Given the description of an element on the screen output the (x, y) to click on. 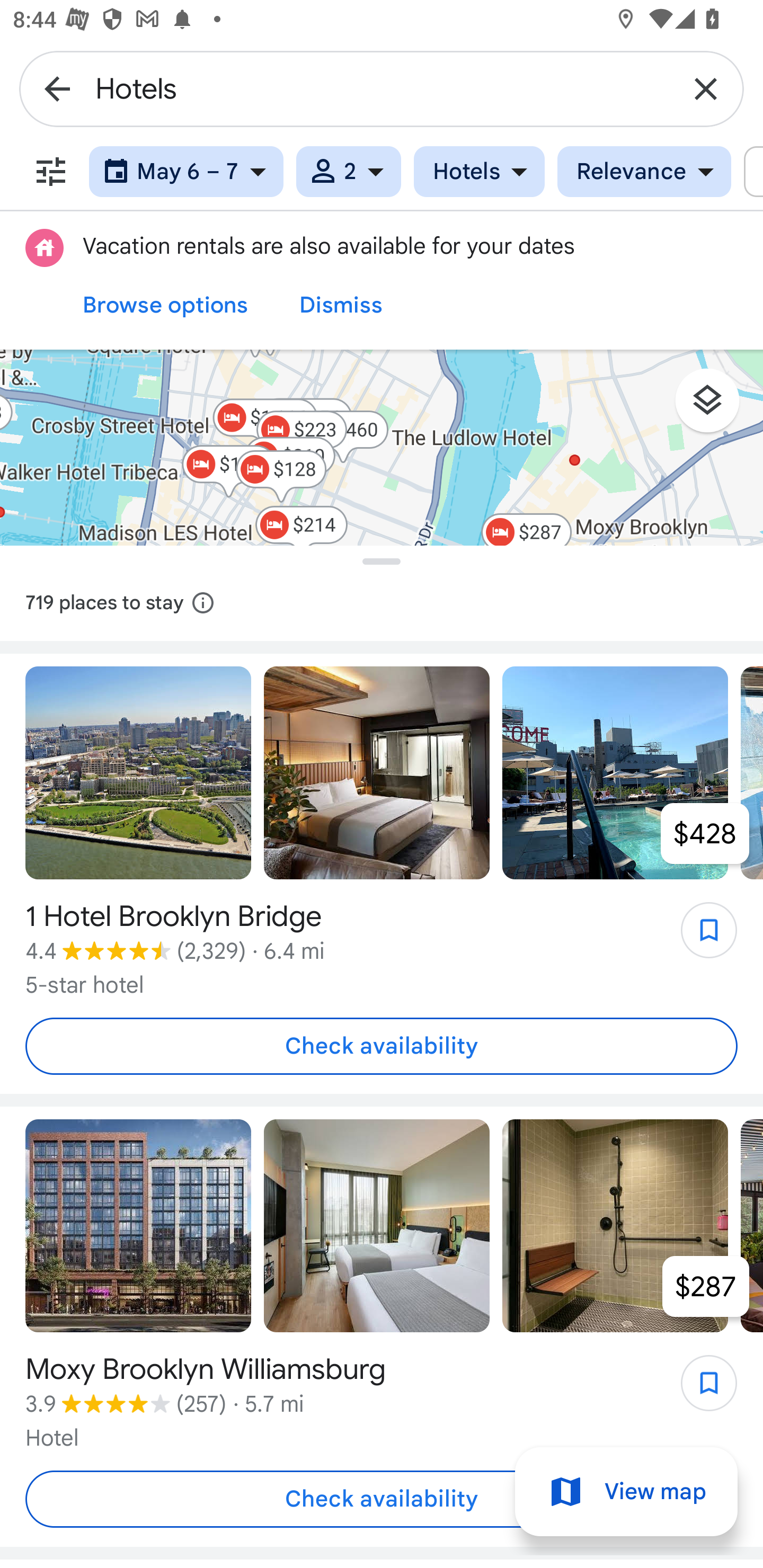
Back (57, 88)
Hotels (381, 88)
Clear (705, 88)
More filters (50, 171)
Hotels Hotels Hotels (478, 171)
Relevance Relevance Relevance (643, 171)
Browse options (165, 304)
Dismiss (340, 304)
Layers (716, 406)
719 places to stay (381, 602)
Photo (138, 772)
Photo (376, 772)
Photo (614, 772)
$428 $428 at 1 Hotel Brooklyn Bridge (704, 833)
Save 1 Hotel Brooklyn Bridge to lists (699, 936)
Photo (138, 1225)
Photo (376, 1225)
Photo (614, 1225)
$287 $287 at Moxy Brooklyn Williamsburg (705, 1286)
Save Moxy Brooklyn Williamsburg to lists (699, 1388)
View map Map view (626, 1491)
